Given the description of an element on the screen output the (x, y) to click on. 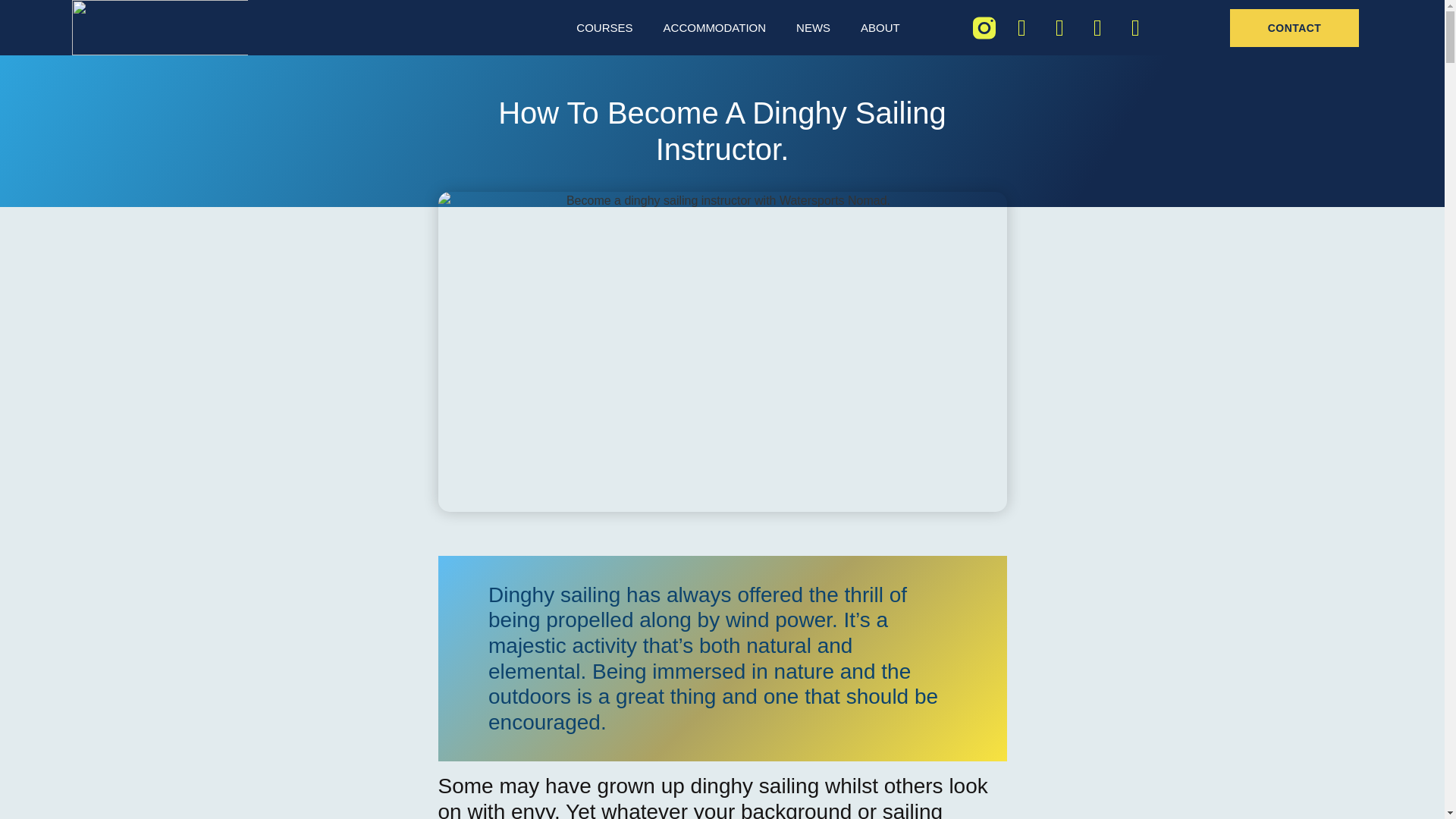
NEWS (812, 27)
CONTACT (1294, 27)
ACCOMMODATION (714, 27)
COURSES (603, 27)
ABOUT (880, 27)
